Given the description of an element on the screen output the (x, y) to click on. 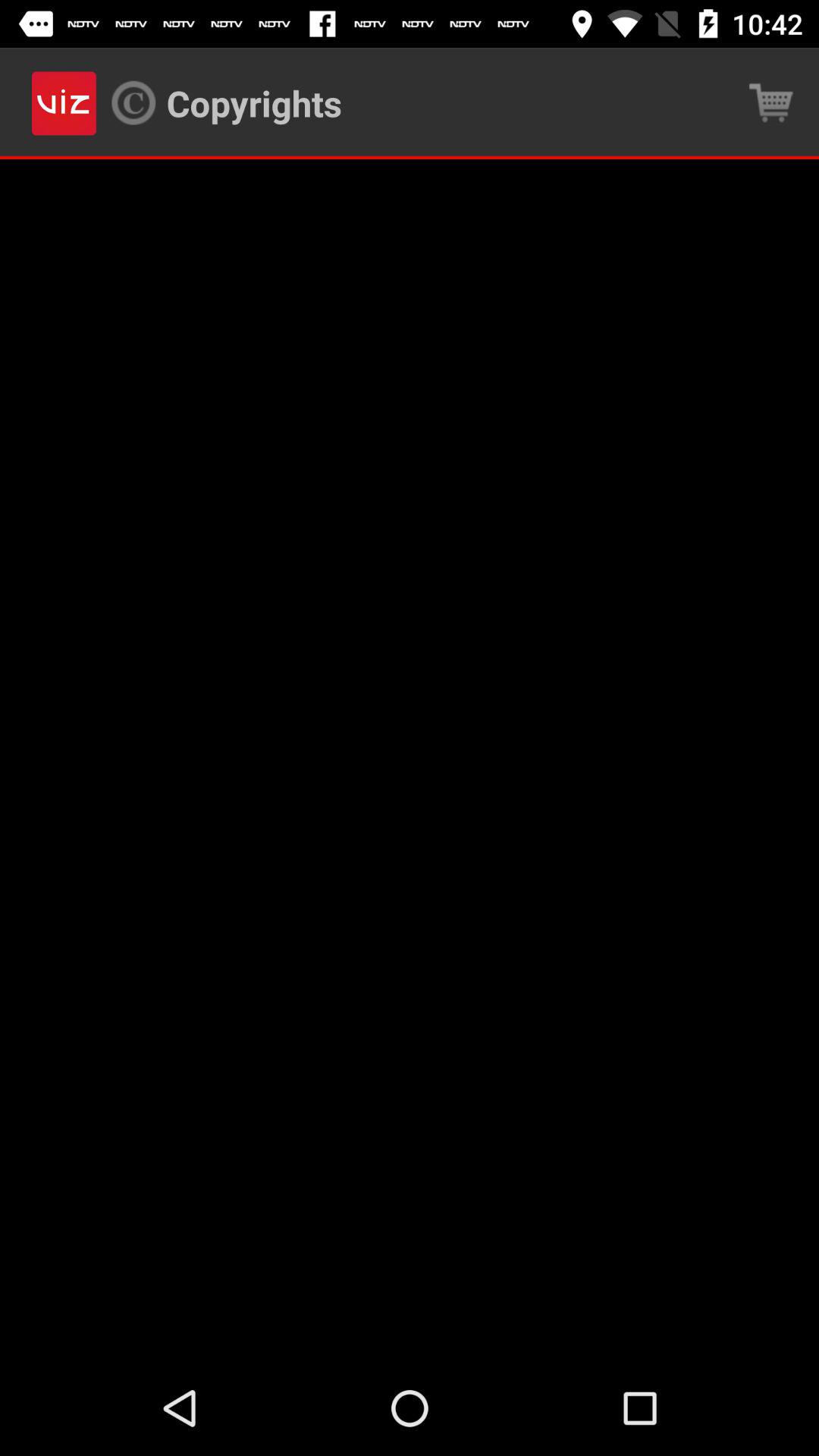
choose the item to the right of the  copyrights (771, 103)
